Given the description of an element on the screen output the (x, y) to click on. 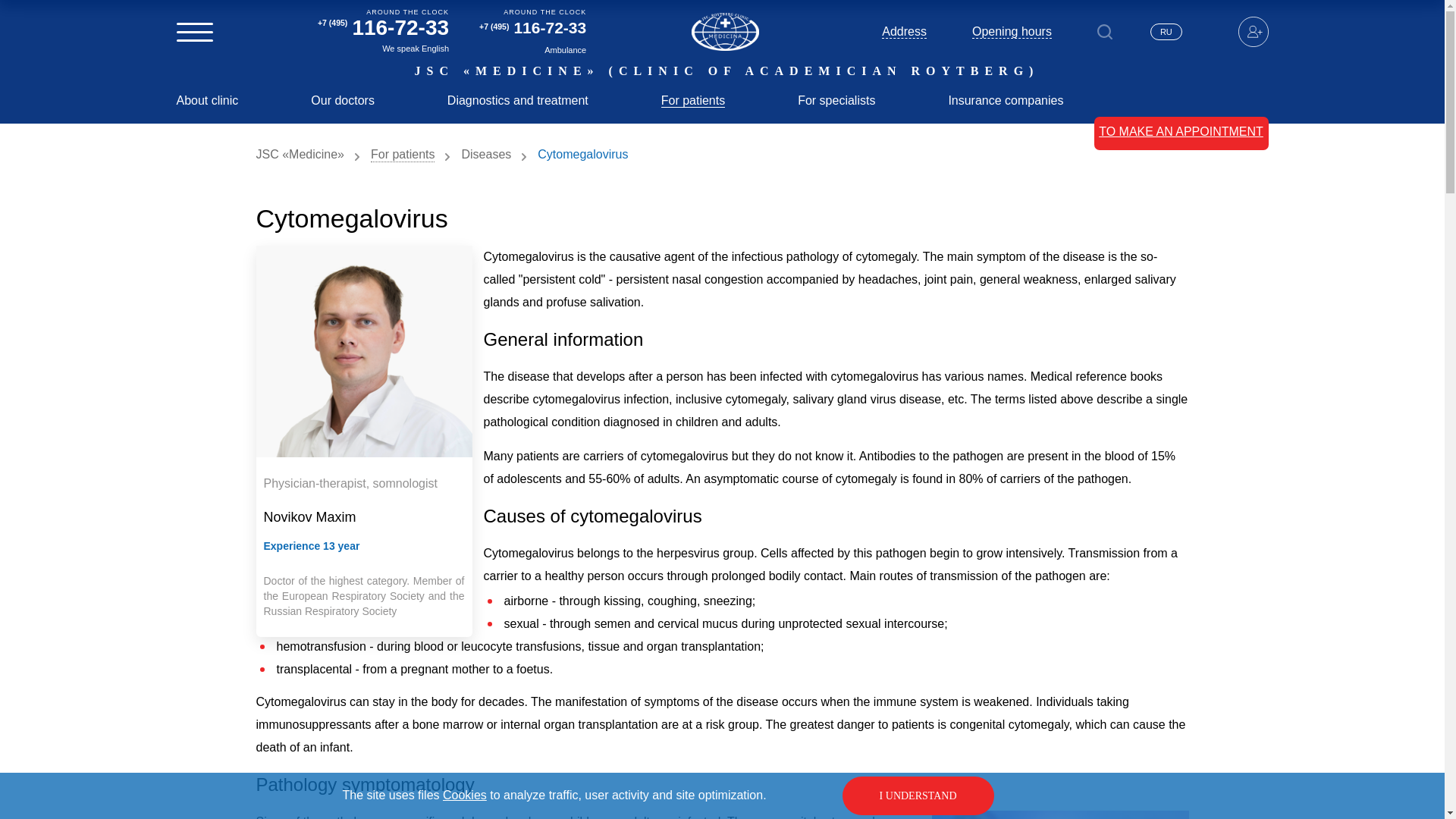
Address (904, 31)
About clinic (207, 100)
TO MAKE AN APPOINTMENT (1181, 137)
Opening hours (1011, 31)
For patients (693, 100)
Our doctors (342, 100)
For specialists (836, 100)
Insurance companies (1004, 100)
RU (1166, 31)
Diagnostics and treatment (517, 100)
